Given the description of an element on the screen output the (x, y) to click on. 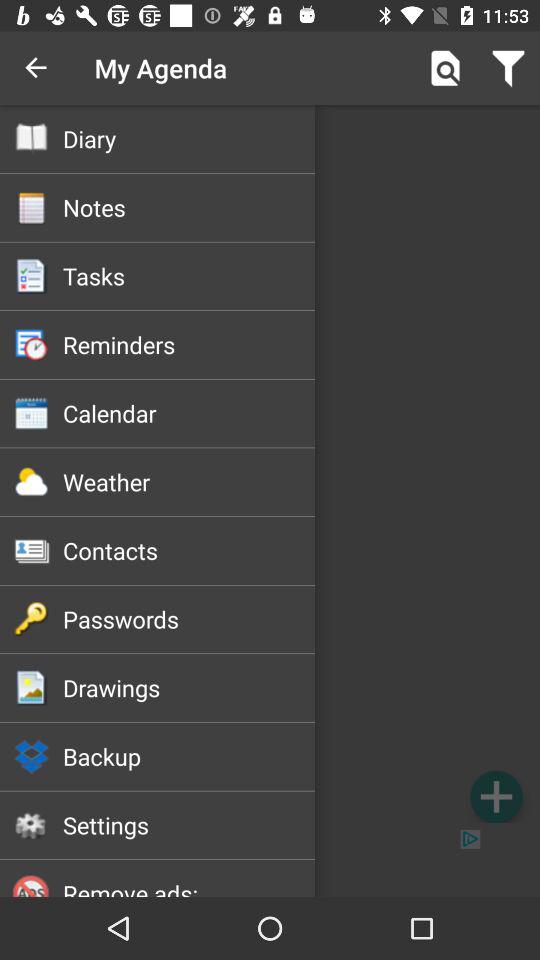
select the item at the bottom right corner (496, 796)
